Given the description of an element on the screen output the (x, y) to click on. 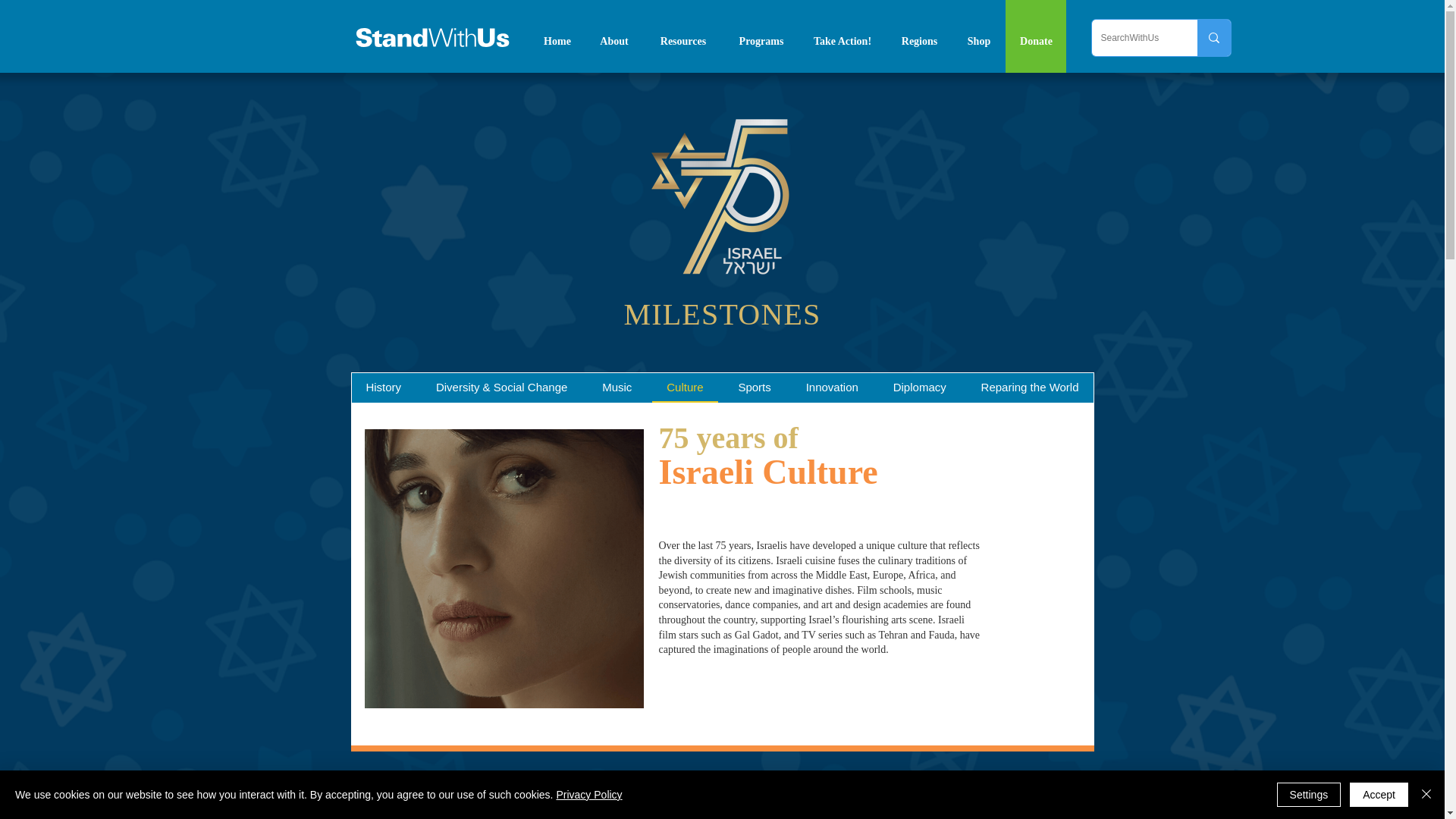
Programs (760, 41)
Home (557, 41)
Resources (683, 41)
About (613, 41)
